Given the description of an element on the screen output the (x, y) to click on. 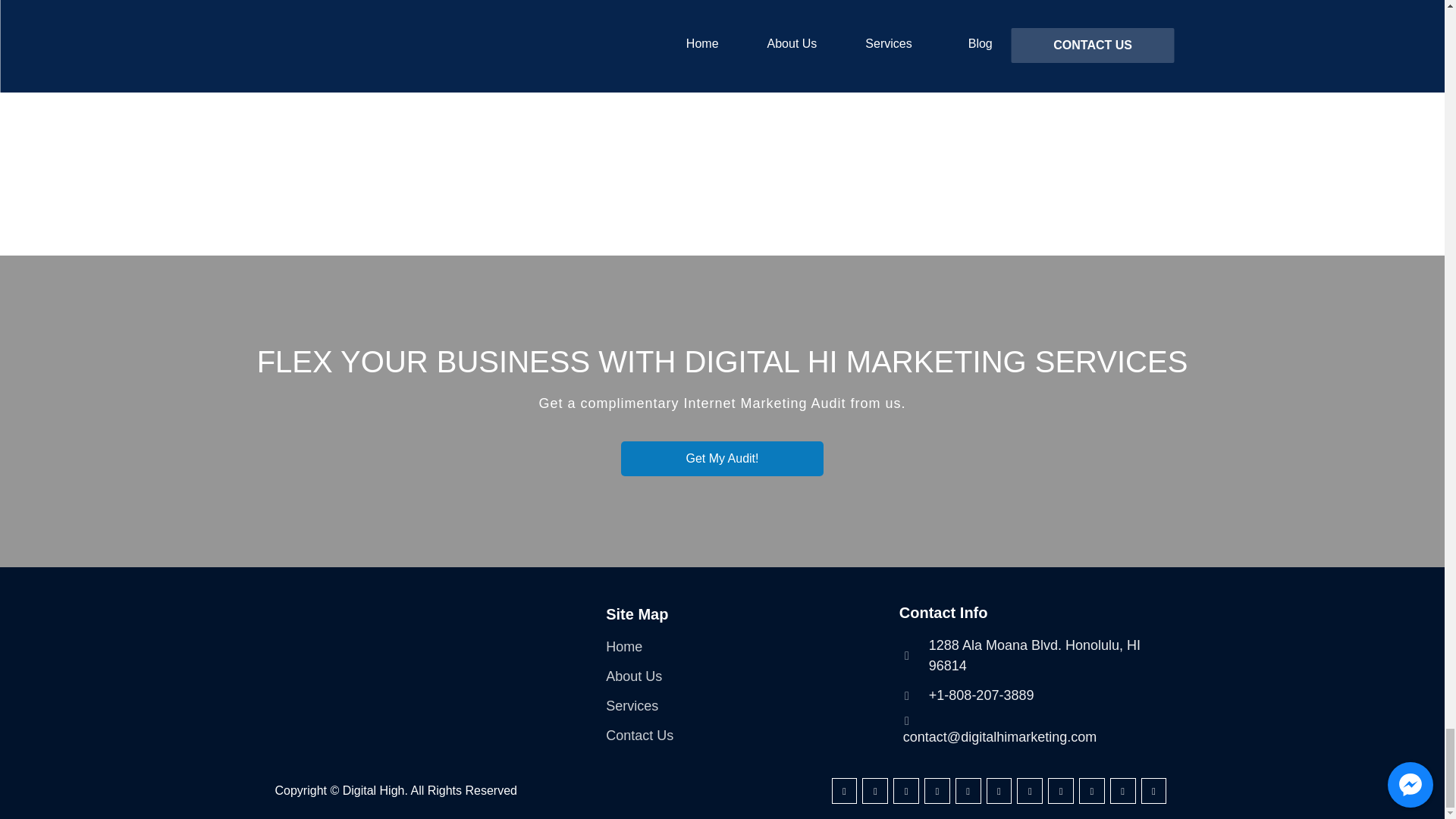
Get My Audit! (721, 458)
About Us (633, 676)
Contact Us (638, 735)
Services (631, 706)
Home (623, 647)
1288 Ala Moana Blvd. Honolulu, HI 96814 (1034, 655)
